Given the description of an element on the screen output the (x, y) to click on. 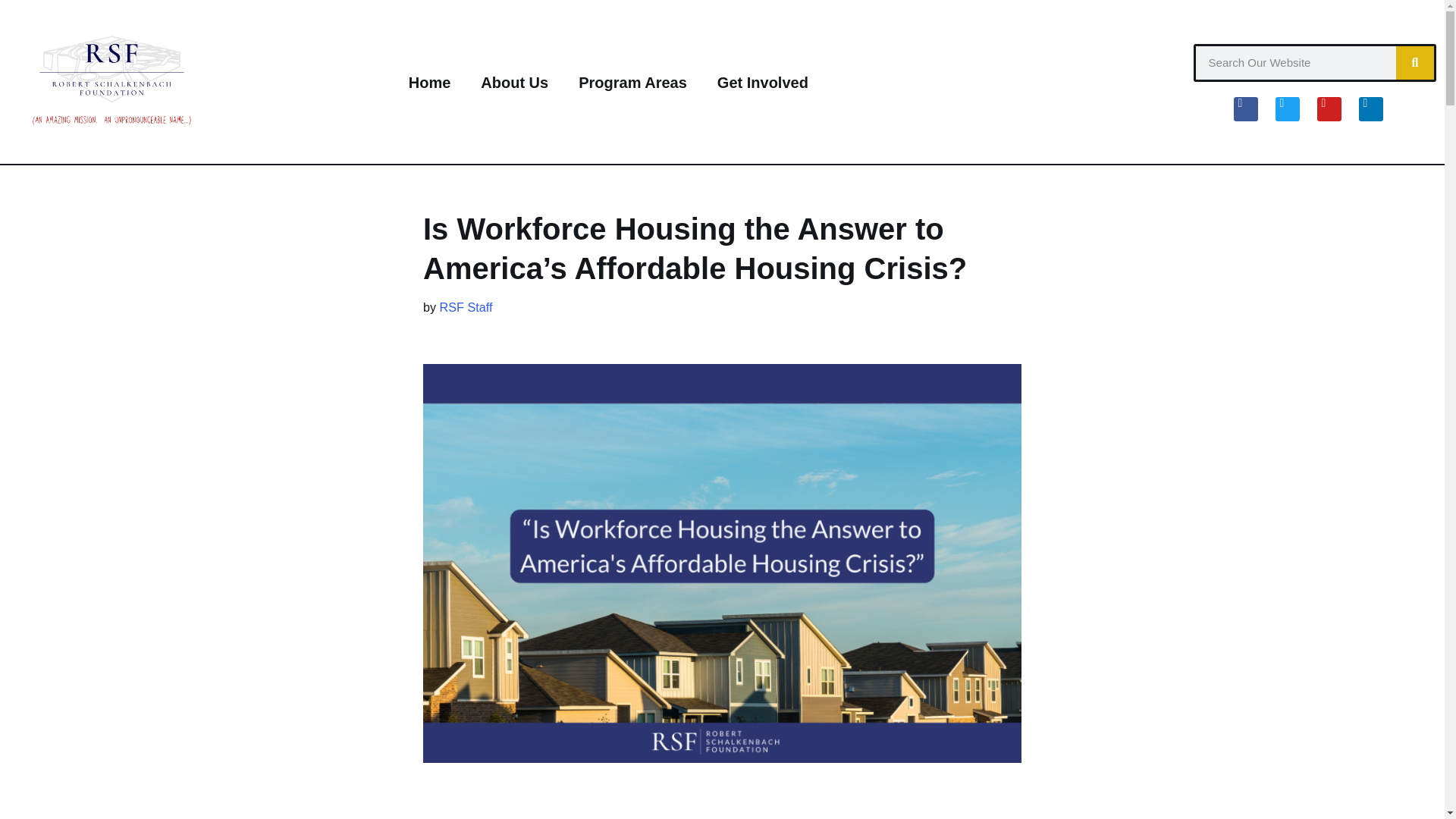
Home (429, 82)
Donate Now (1094, 75)
Get Involved (762, 82)
Posts by RSF Staff (466, 306)
Program Areas (632, 82)
Skip to content (11, 31)
About Us (514, 82)
